Given the description of an element on the screen output the (x, y) to click on. 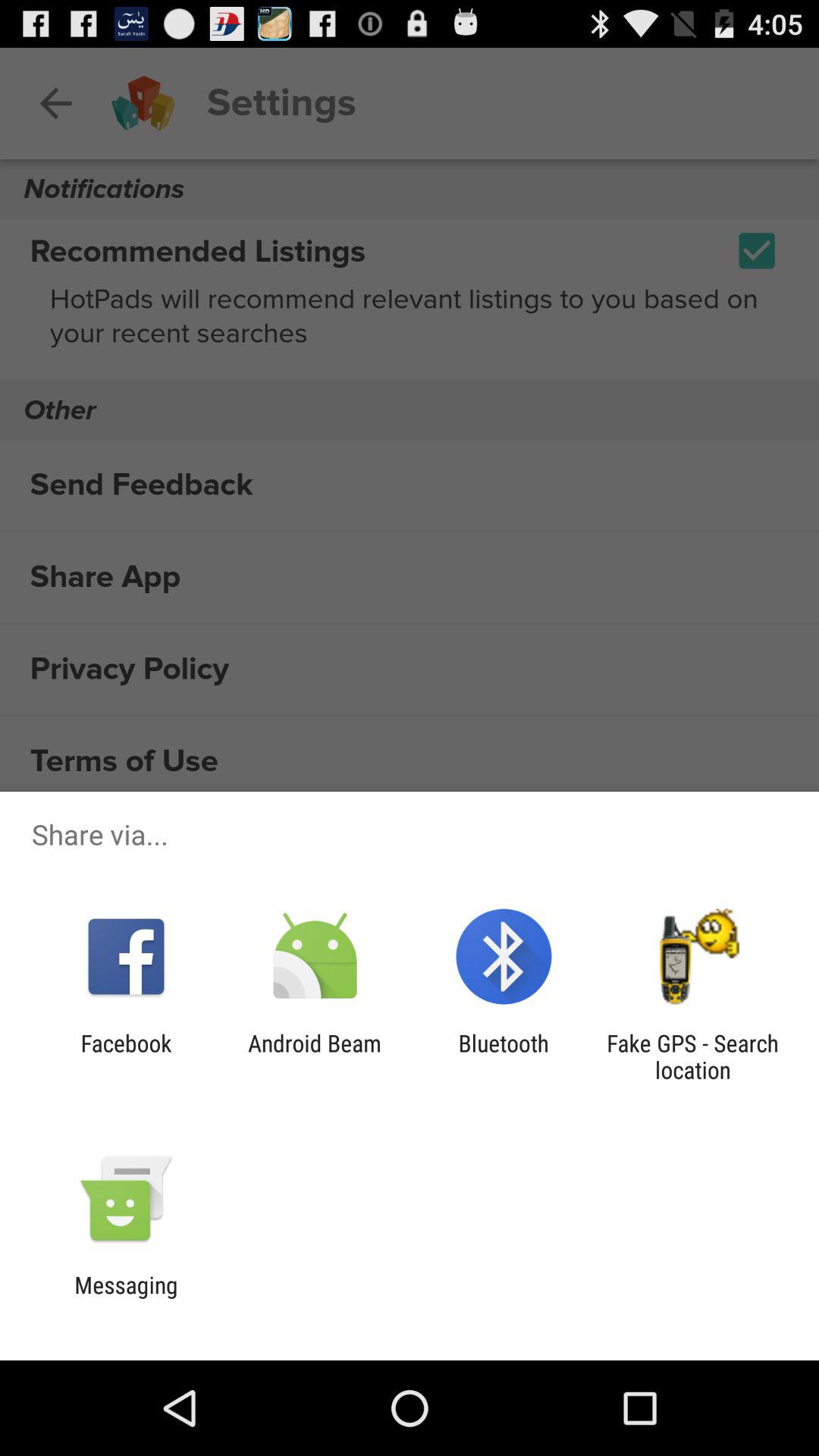
tap item next to android beam icon (503, 1056)
